Given the description of an element on the screen output the (x, y) to click on. 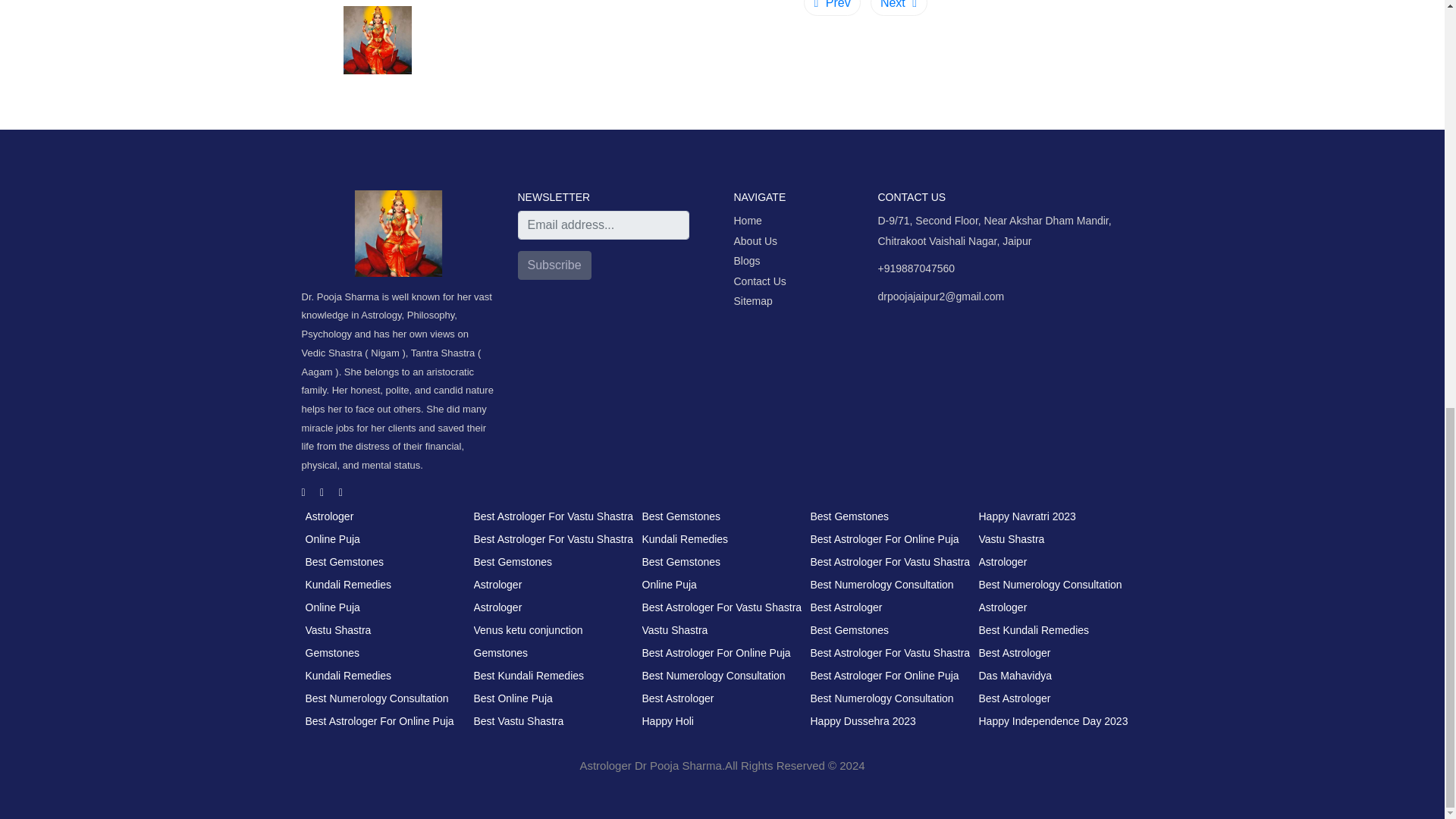
Astrologer (328, 516)
Sitemap (759, 301)
Subscribe (553, 265)
Home (759, 220)
Contact Us (759, 281)
Prev (831, 7)
Next (898, 7)
Blogs (759, 260)
About Us (759, 240)
